Given the description of an element on the screen output the (x, y) to click on. 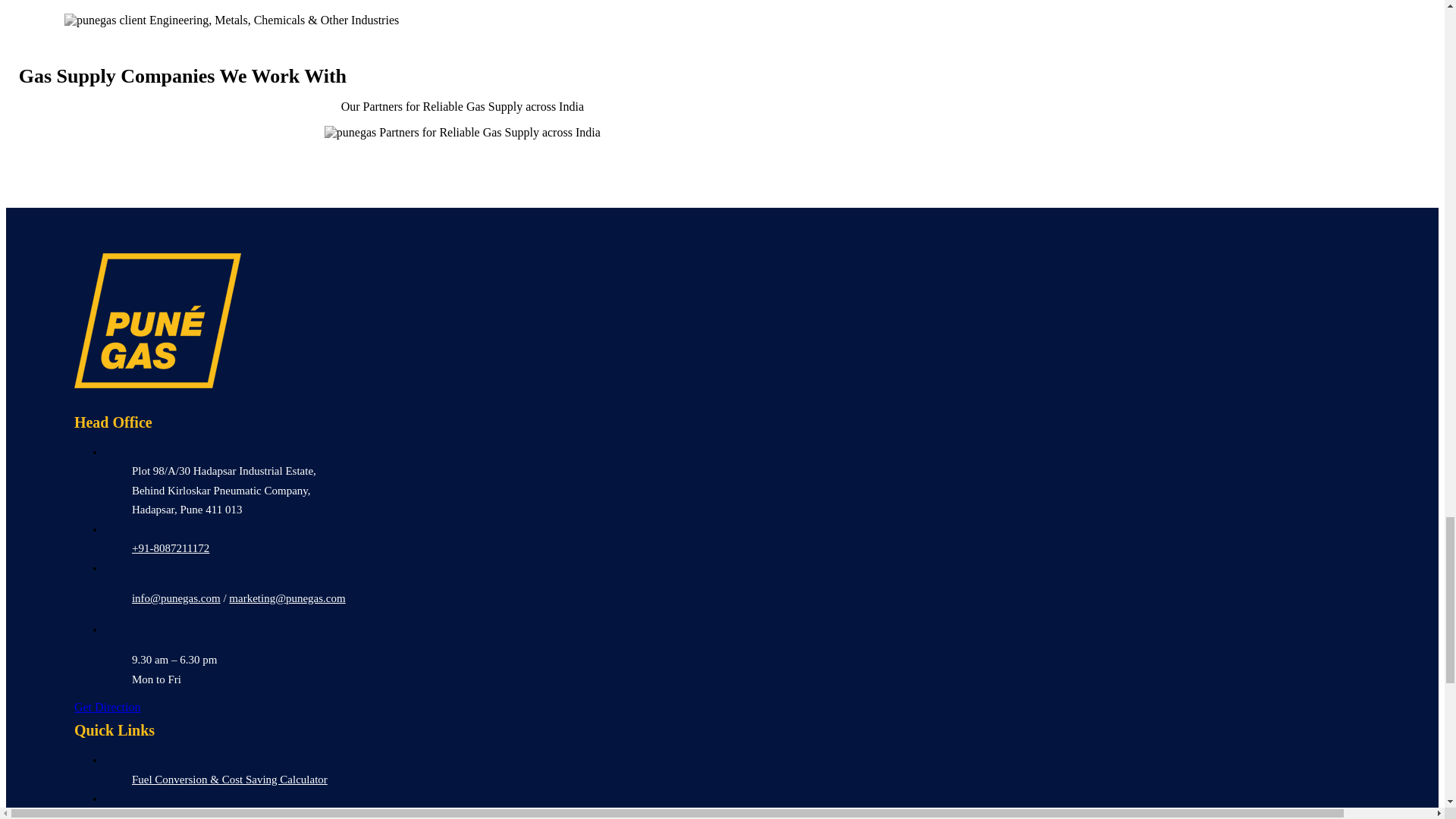
Punegas logo (157, 320)
punegas Partners for Reliable Gas Supply across India (461, 132)
